Given the description of an element on the screen output the (x, y) to click on. 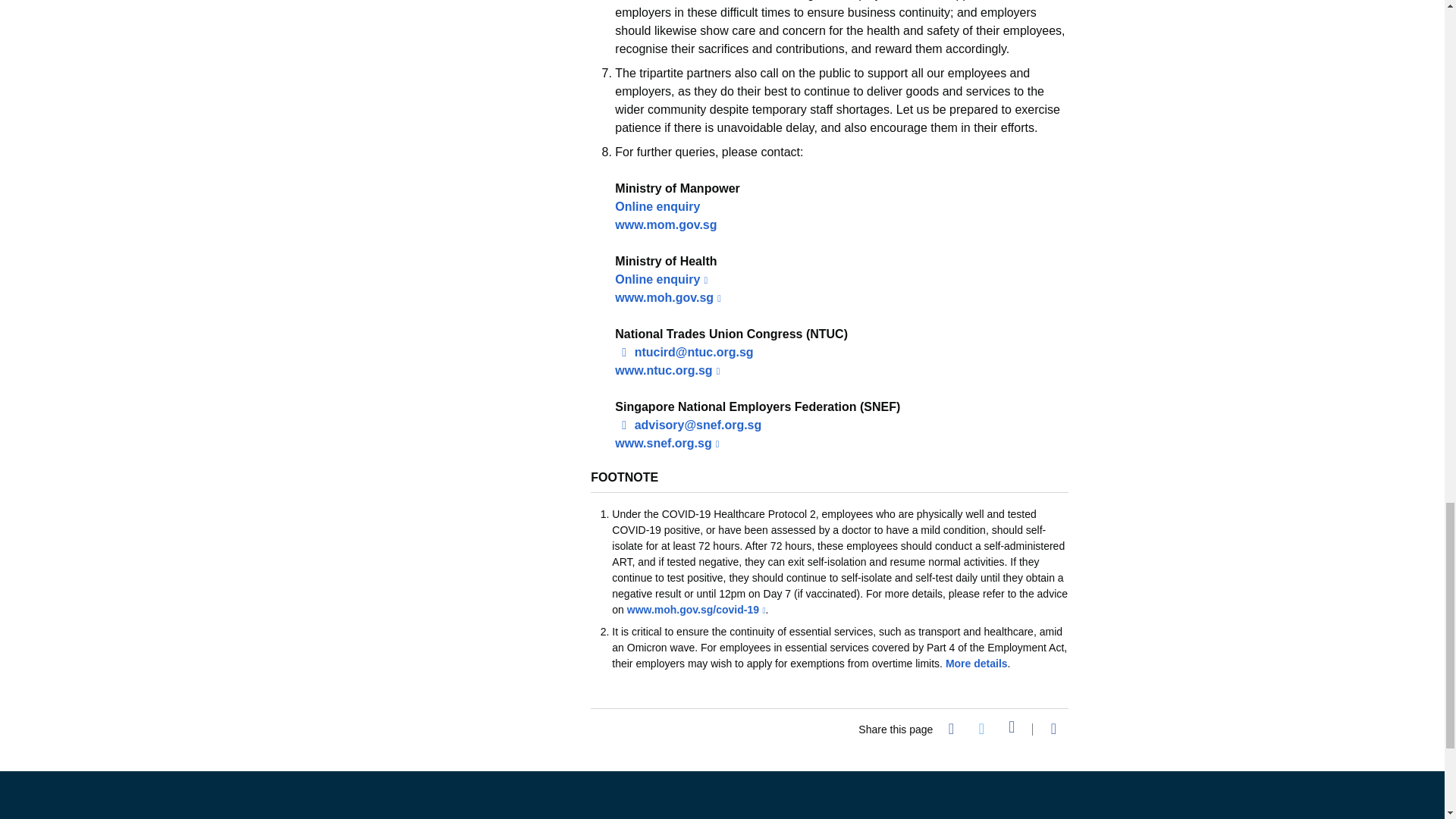
Ministry of Manpower (413, 805)
www.mom.gov.sg (665, 224)
www.ntuc.org.sg (666, 369)
Online enquiry (657, 205)
www.moh.gov.sg (667, 297)
Online enquiry (660, 278)
